Given the description of an element on the screen output the (x, y) to click on. 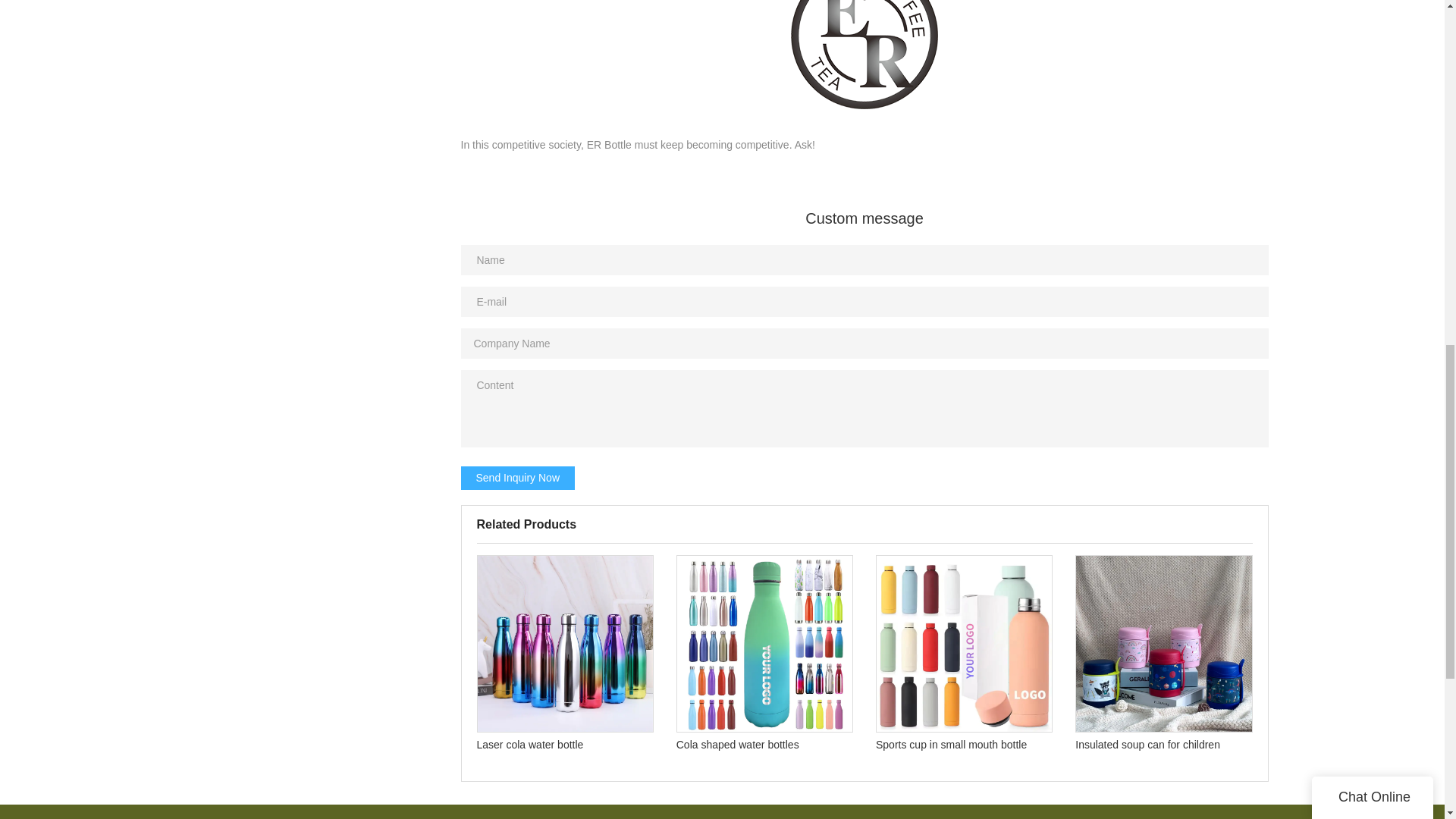
Send Inquiry Now (518, 477)
